Given the description of an element on the screen output the (x, y) to click on. 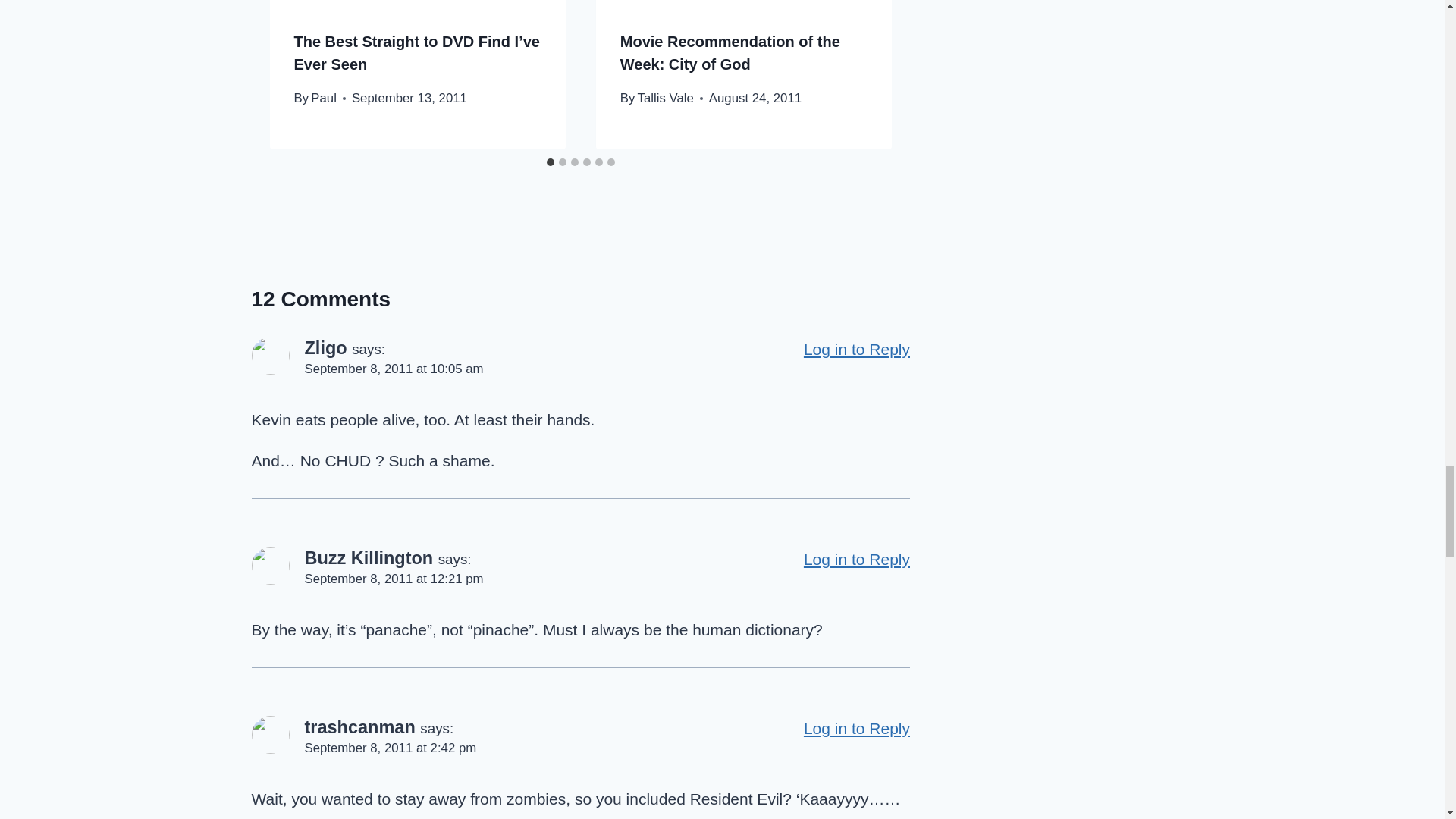
Movie Recommendation of the Week: City of God (730, 52)
Paul (323, 97)
Tallis Vale (665, 97)
